Given the description of an element on the screen output the (x, y) to click on. 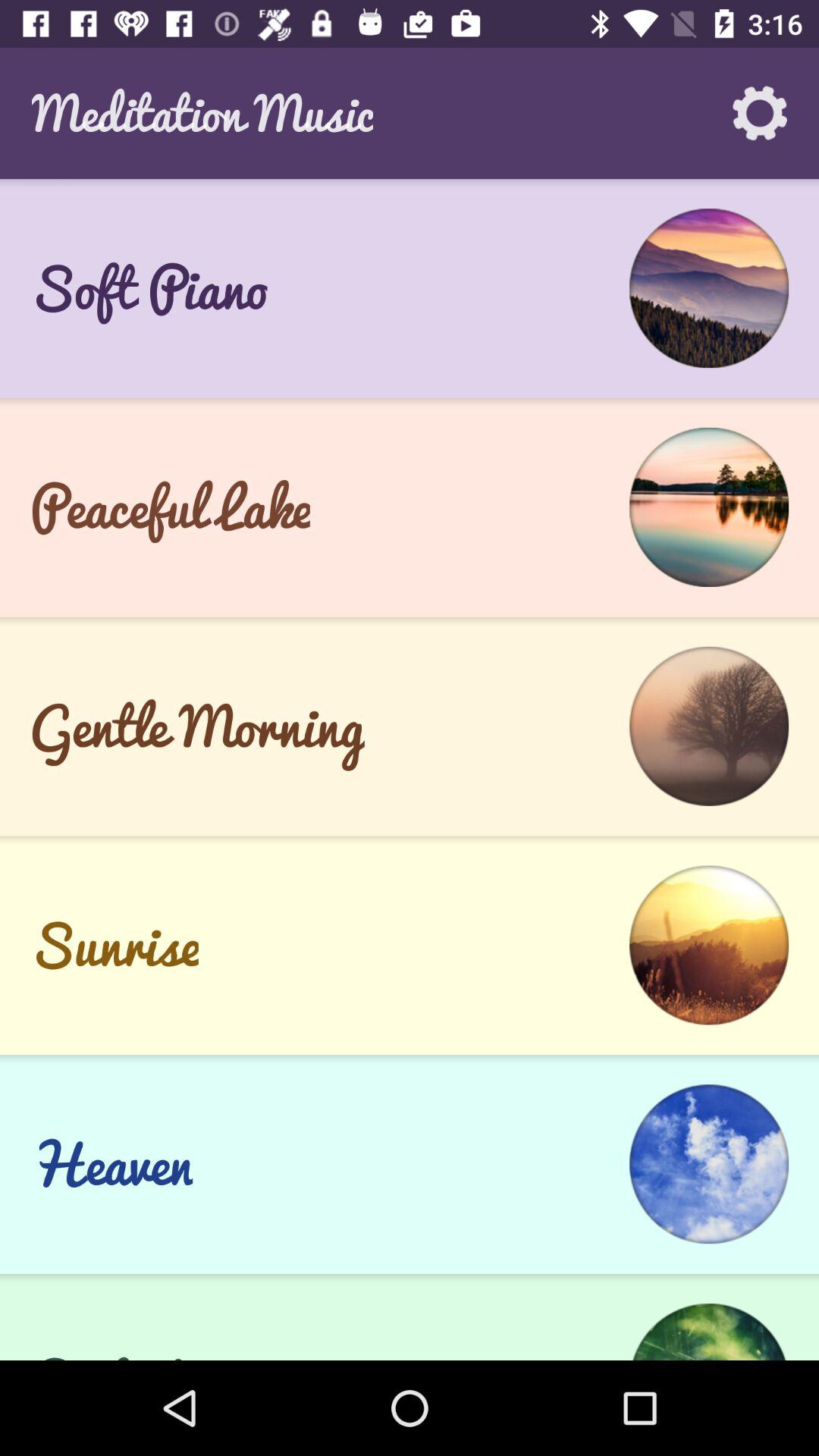
click the app to the right of meditation music (759, 112)
